Given the description of an element on the screen output the (x, y) to click on. 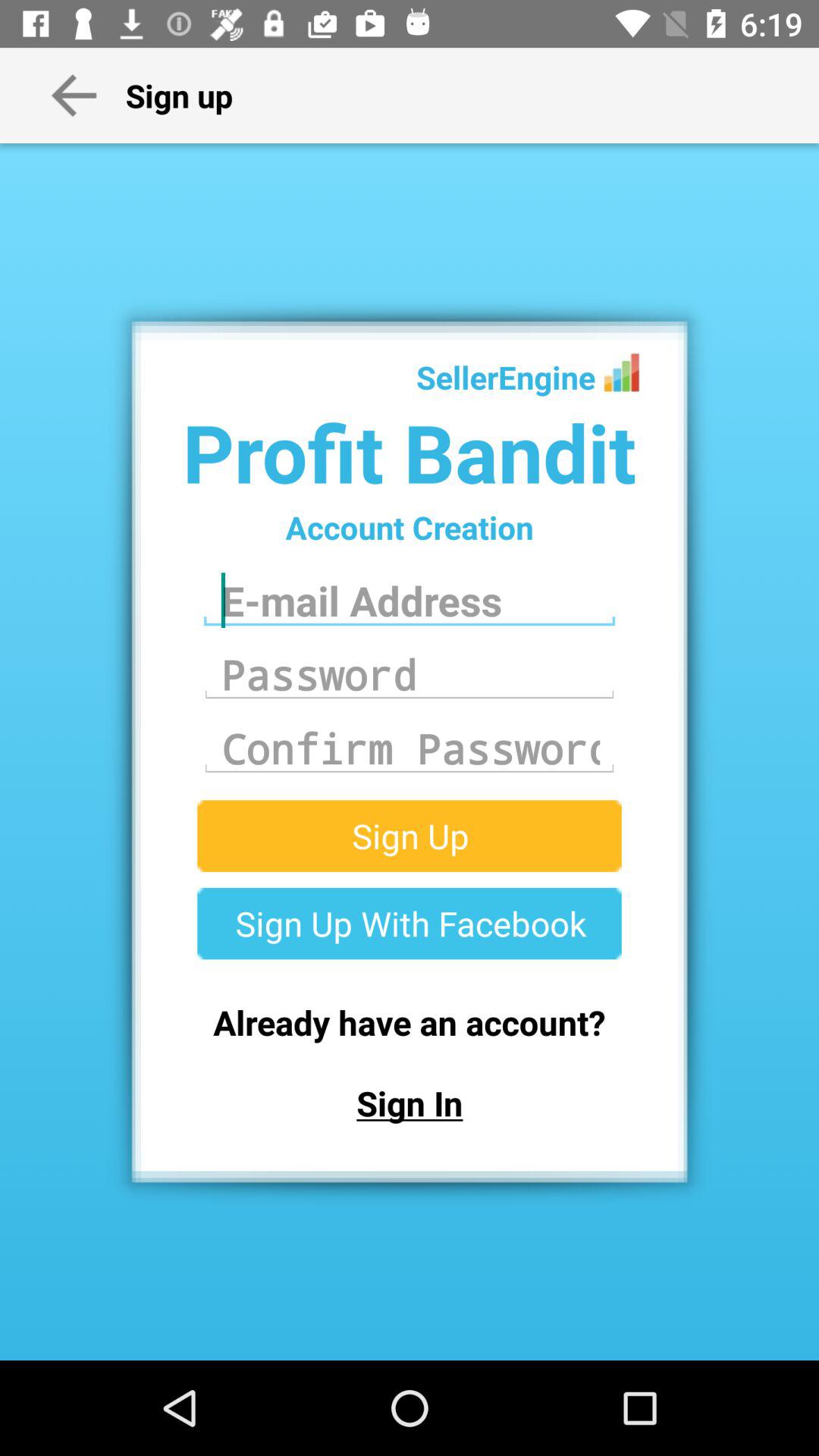
tap the icon to the left of sign up icon (73, 95)
